Given the description of an element on the screen output the (x, y) to click on. 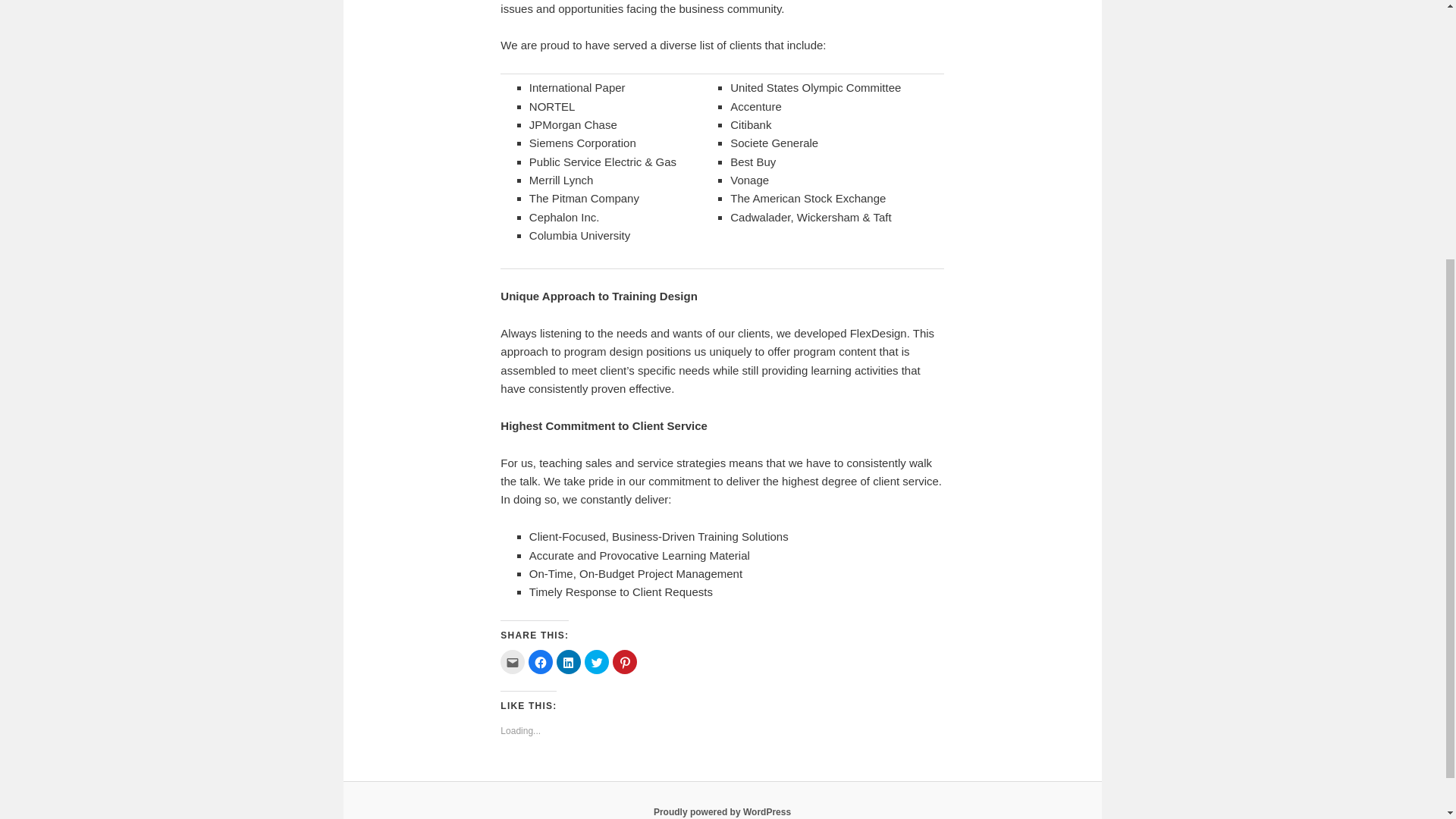
Click to share on LinkedIn (568, 662)
Semantic Personal Publishing Platform (721, 811)
Click to share on Twitter (596, 662)
Click to email this to a friend (512, 662)
Click to share on Pinterest (624, 662)
Click to share on Facebook (540, 662)
Proudly powered by WordPress (721, 811)
